Given the description of an element on the screen output the (x, y) to click on. 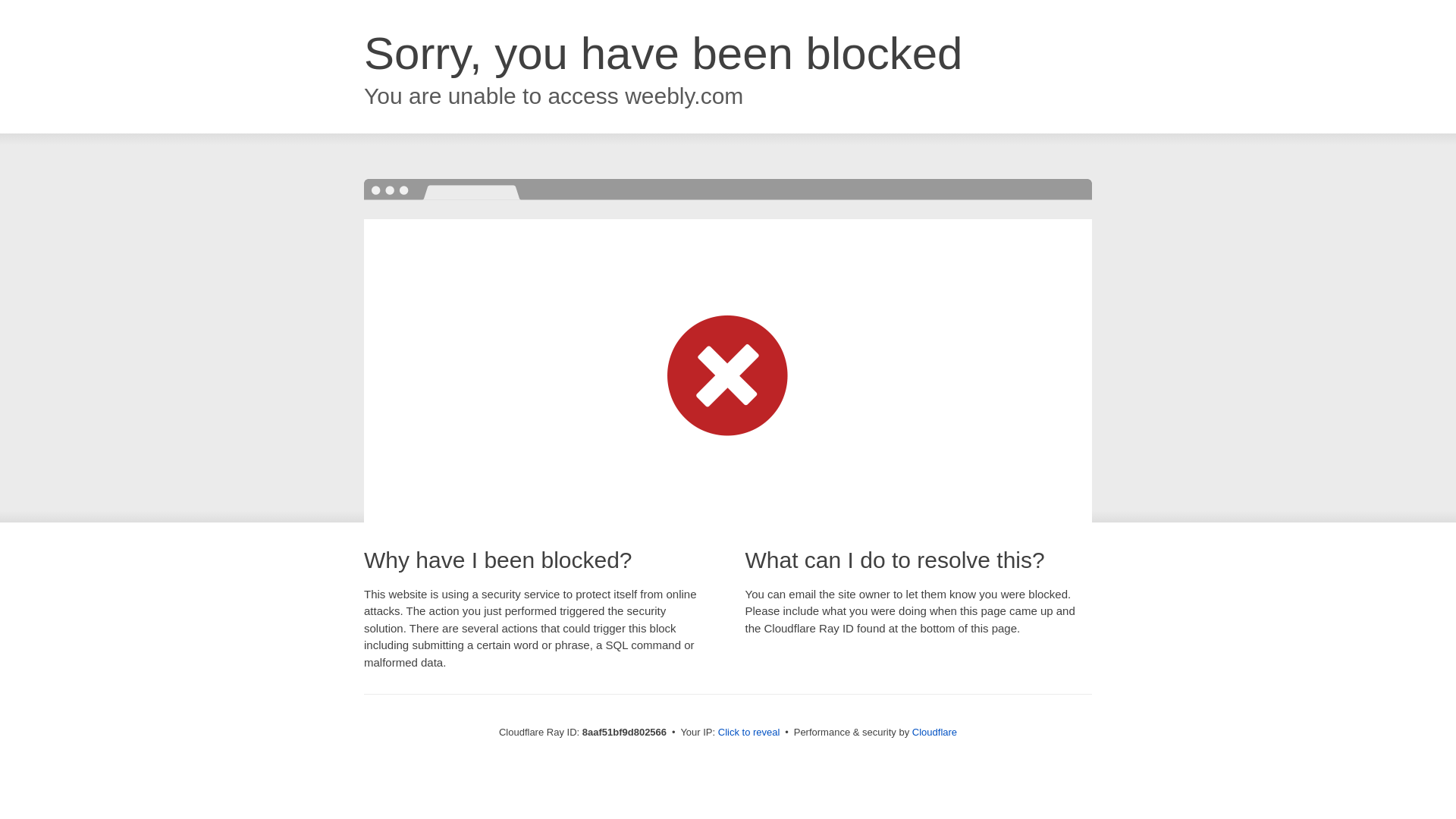
Click to reveal (748, 732)
Cloudflare (934, 731)
